Given the description of an element on the screen output the (x, y) to click on. 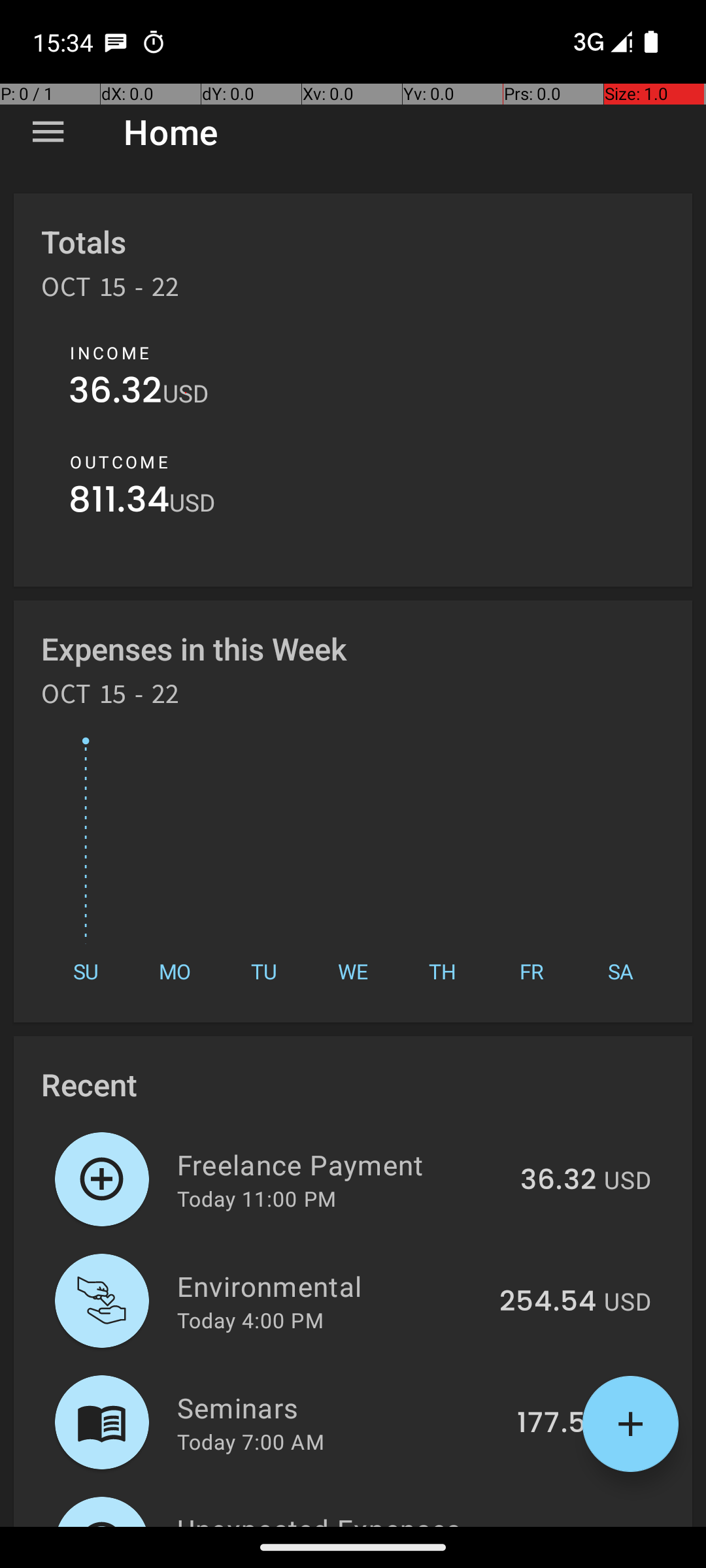
36.32 Element type: android.widget.TextView (115, 393)
811.34 Element type: android.widget.TextView (118, 502)
Environmental Element type: android.widget.TextView (330, 1285)
254.54 Element type: android.widget.TextView (547, 1301)
Today 7:00 AM Element type: android.widget.TextView (250, 1441)
177.51 Element type: android.widget.TextView (556, 1423)
Unexpected Expenses Element type: android.widget.TextView (332, 1518)
379.29 Element type: android.widget.TextView (549, 1524)
